Given the description of an element on the screen output the (x, y) to click on. 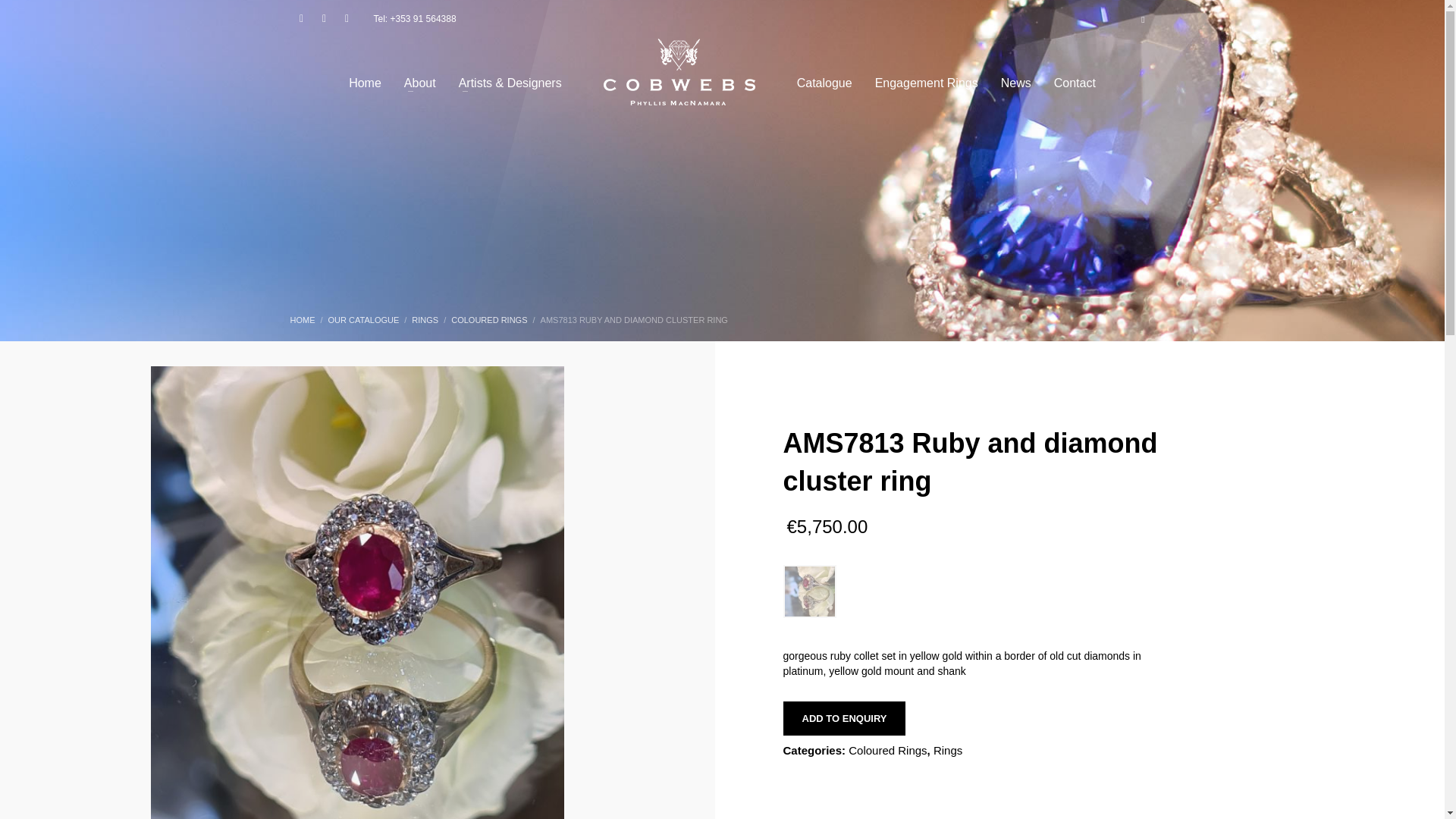
RINGS (425, 319)
Coloured Rings (887, 749)
AMS7813a (809, 591)
OUR CATALOGUE (363, 319)
Phyllis MacNamara (679, 70)
Facebook (301, 18)
Rings (947, 749)
Engagement Rings (926, 81)
HOME (301, 319)
